Given the description of an element on the screen output the (x, y) to click on. 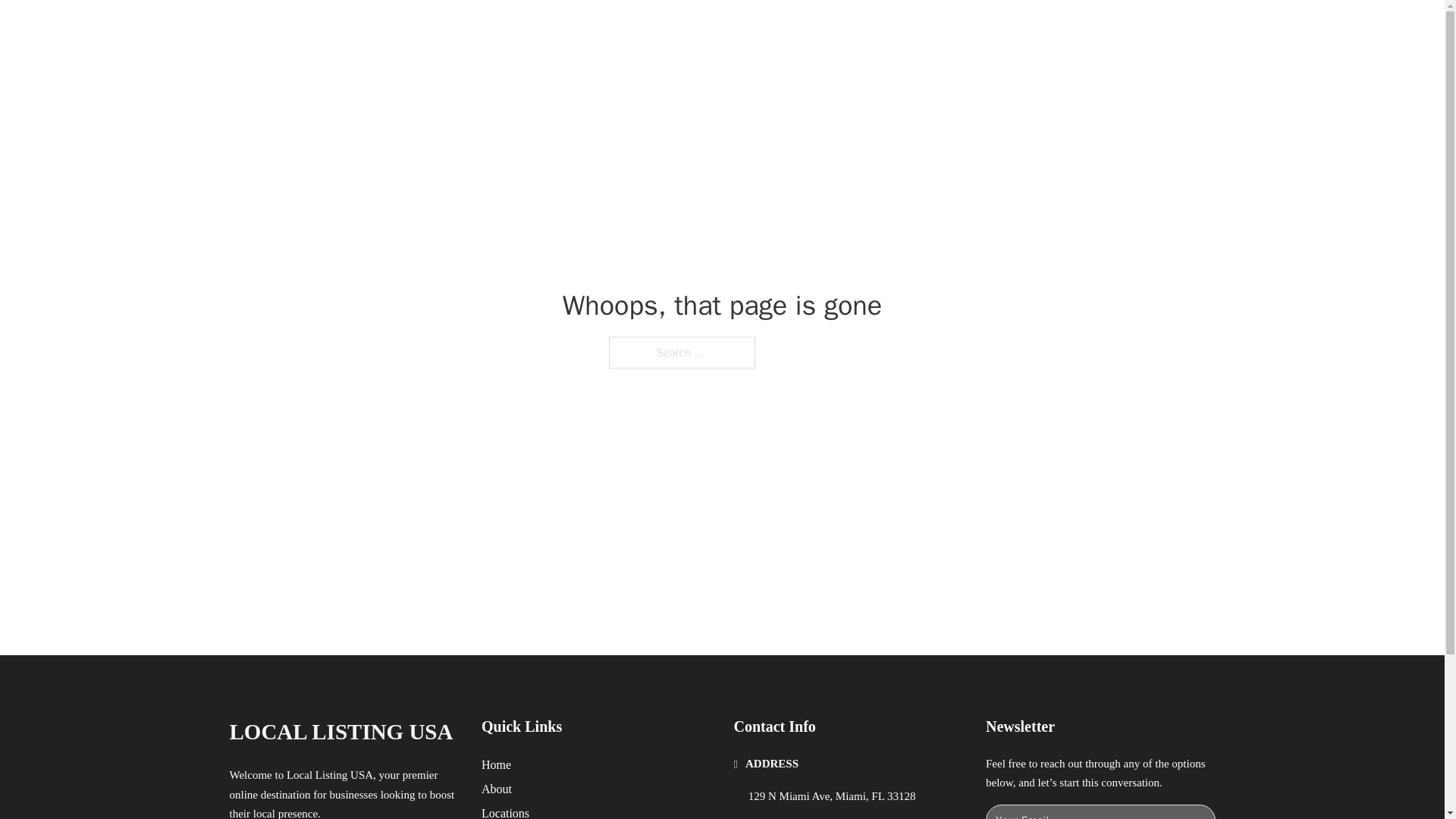
Home (496, 764)
LOCAL LISTING USA (340, 732)
HOME (919, 29)
LOCAL LISTING USA (408, 28)
About (496, 788)
Locations (505, 811)
LOCATIONS (990, 29)
